Given the description of an element on the screen output the (x, y) to click on. 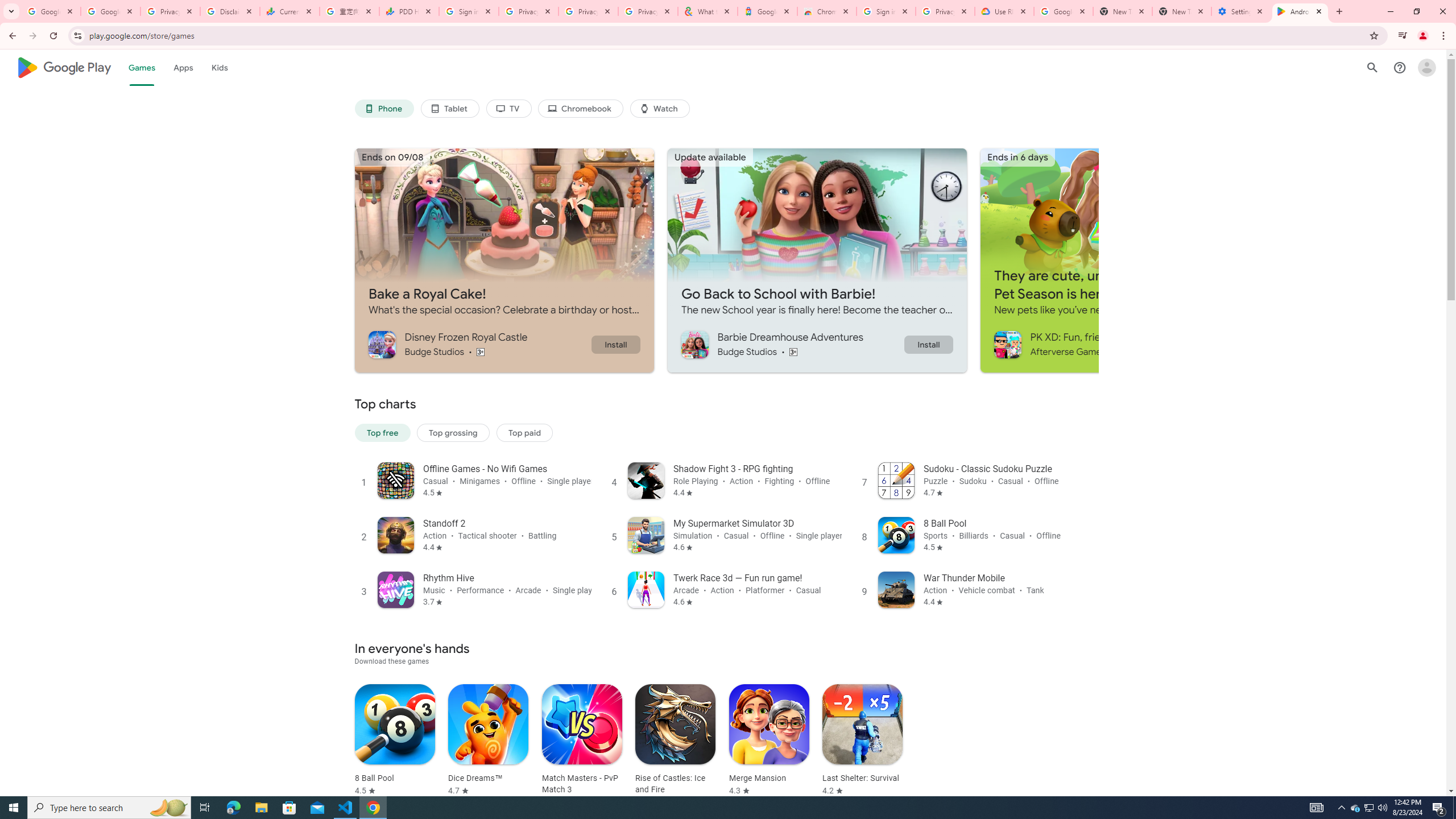
Top free (381, 432)
Content rating Rated for 3+ (793, 351)
Privacy Checkup (588, 11)
Install (928, 343)
Currencies - Google Finance (289, 11)
